Given the description of an element on the screen output the (x, y) to click on. 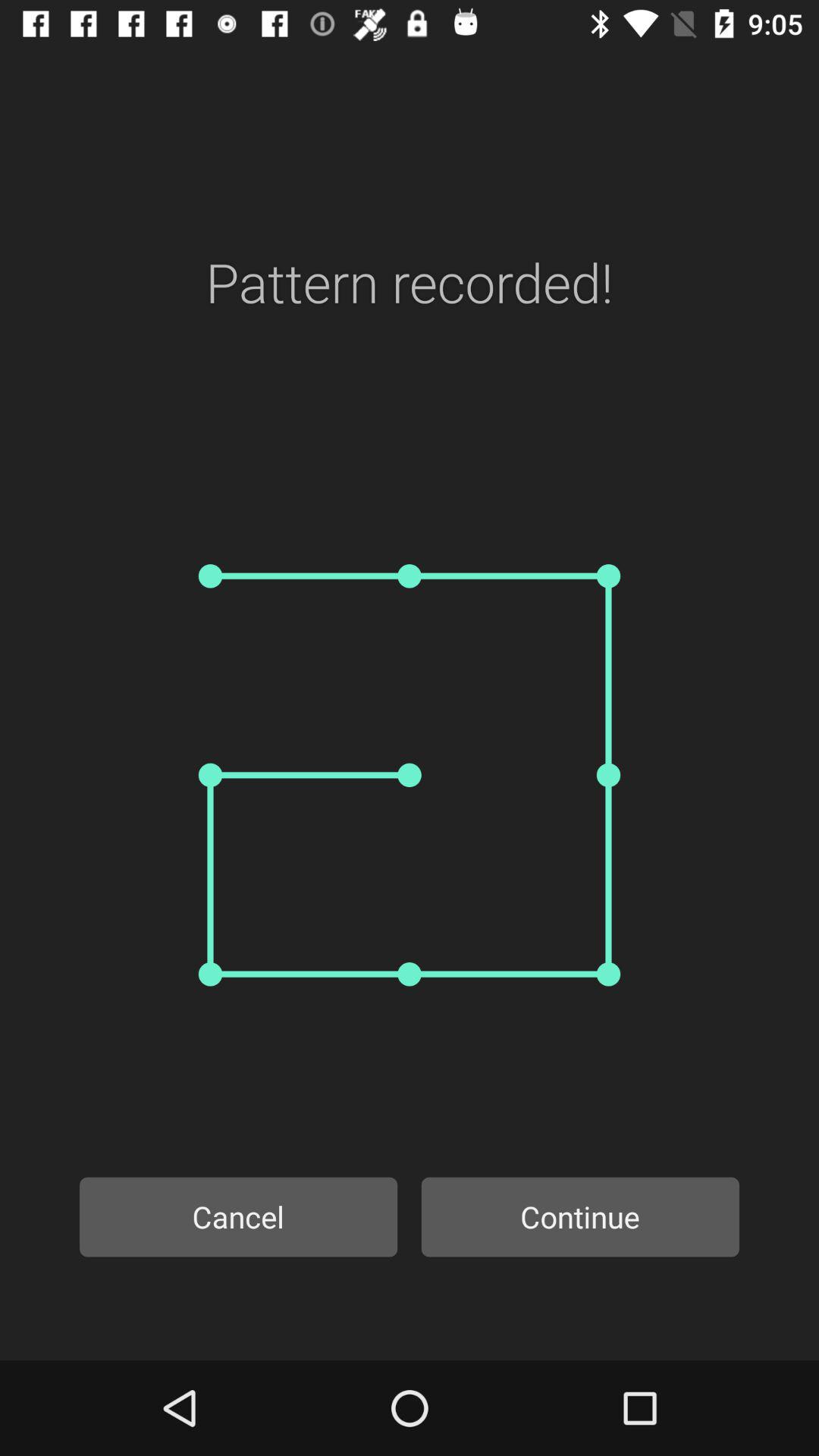
turn off the cancel (238, 1216)
